Given the description of an element on the screen output the (x, y) to click on. 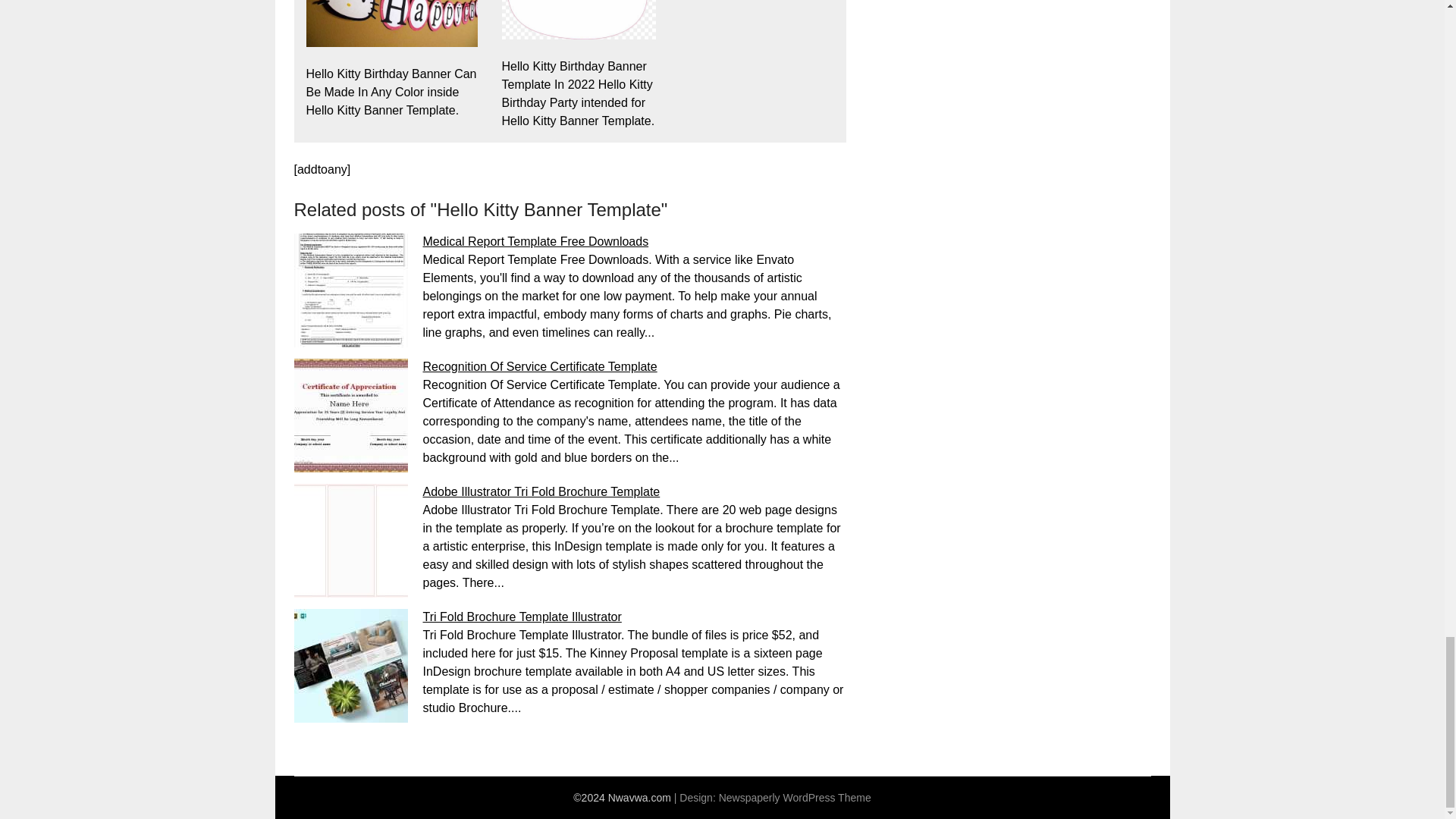
Medical Report Template Free Downloads (536, 241)
Recognition Of Service Certificate Template (540, 366)
Adobe Illustrator Tri Fold Brochure Template (542, 491)
Tri Fold Brochure Template Illustrator (522, 616)
